Given the description of an element on the screen output the (x, y) to click on. 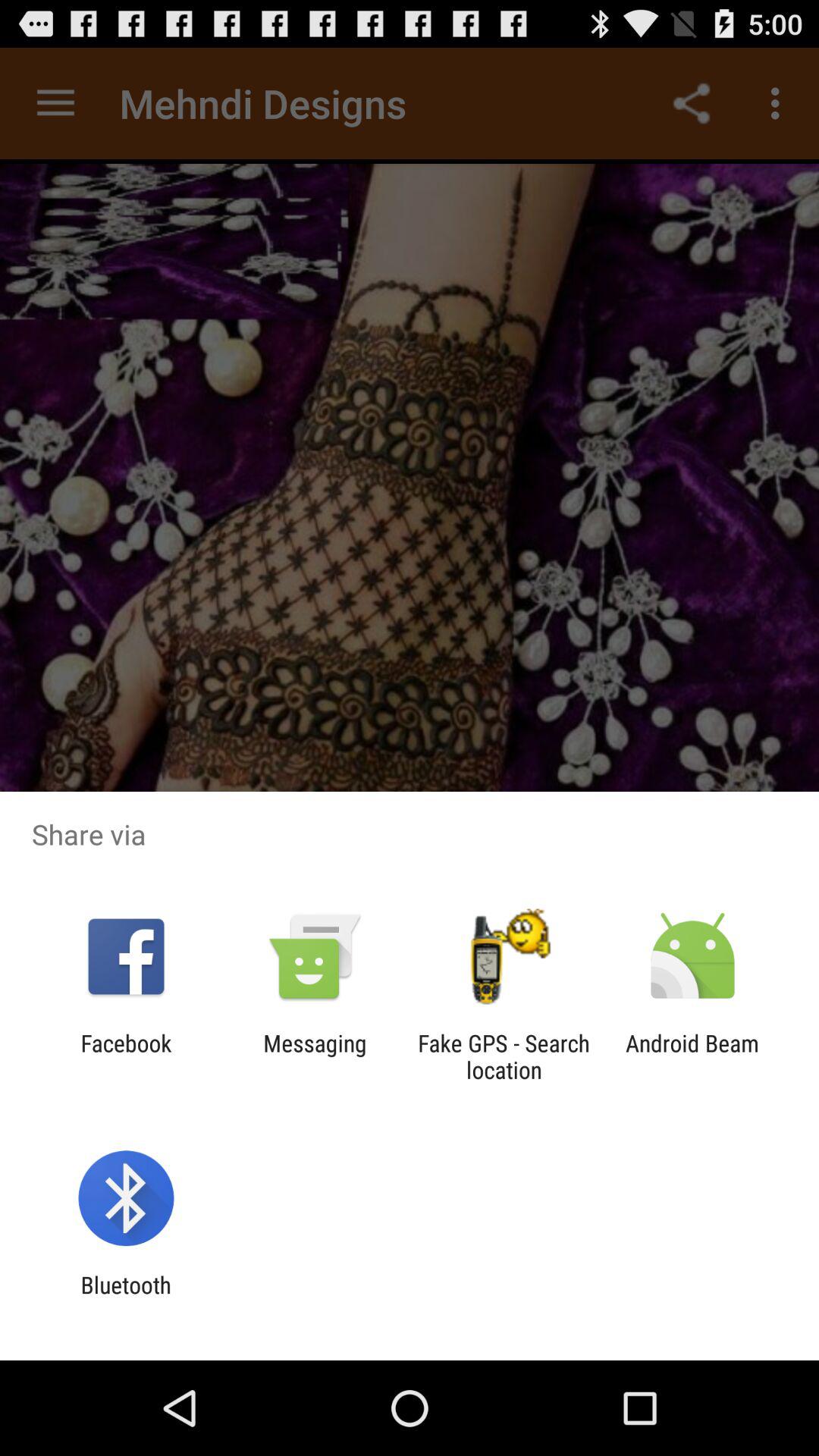
jump until the android beam (692, 1056)
